Given the description of an element on the screen output the (x, y) to click on. 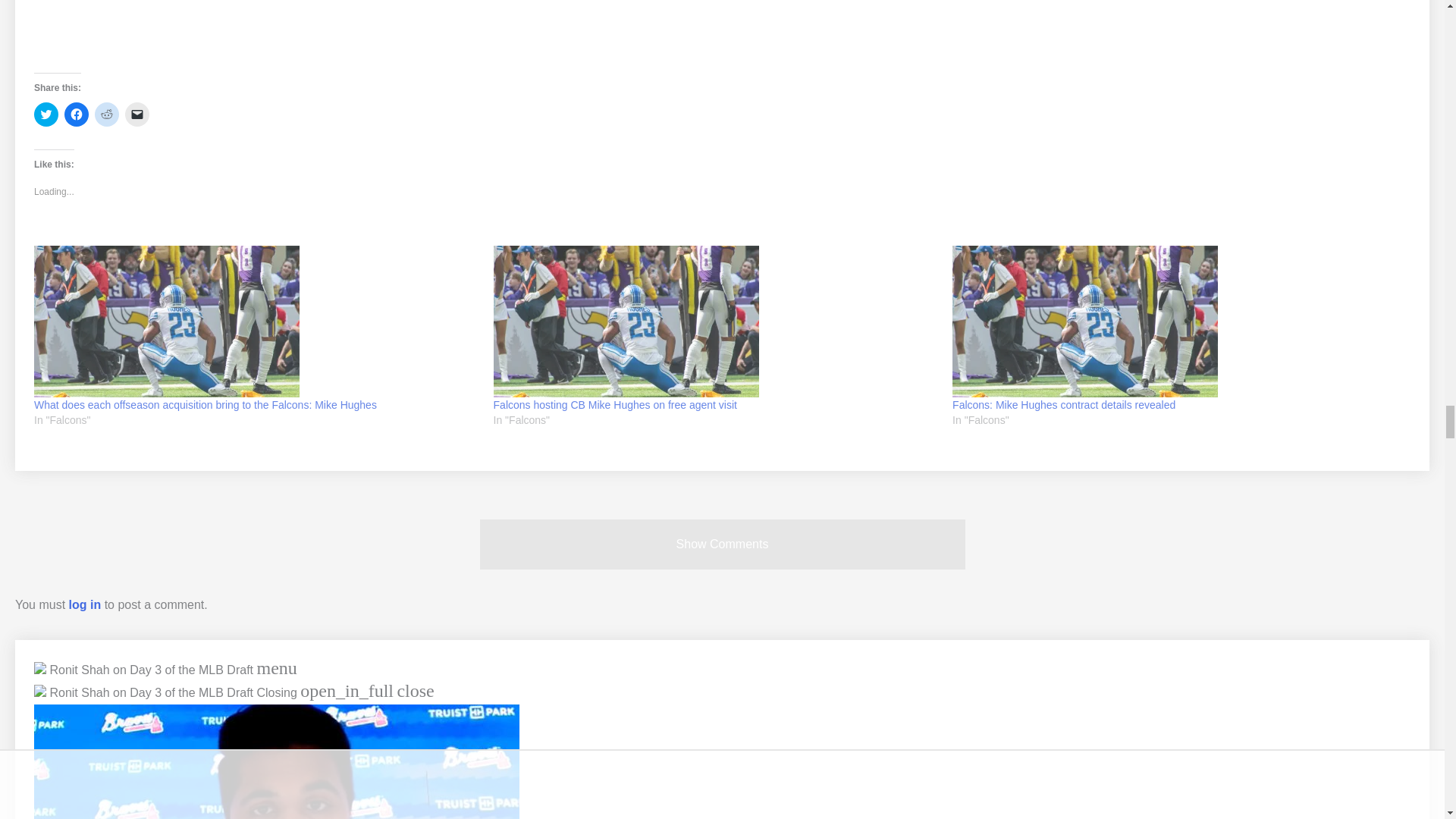
Click to share on Twitter (45, 114)
Falcons hosting CB Mike Hughes on free agent visit (715, 321)
Click to share on Reddit (106, 114)
Click to email a link to a friend (137, 114)
Click to share on Facebook (76, 114)
Falcons hosting CB Mike Hughes on free agent visit (614, 404)
